Given the description of an element on the screen output the (x, y) to click on. 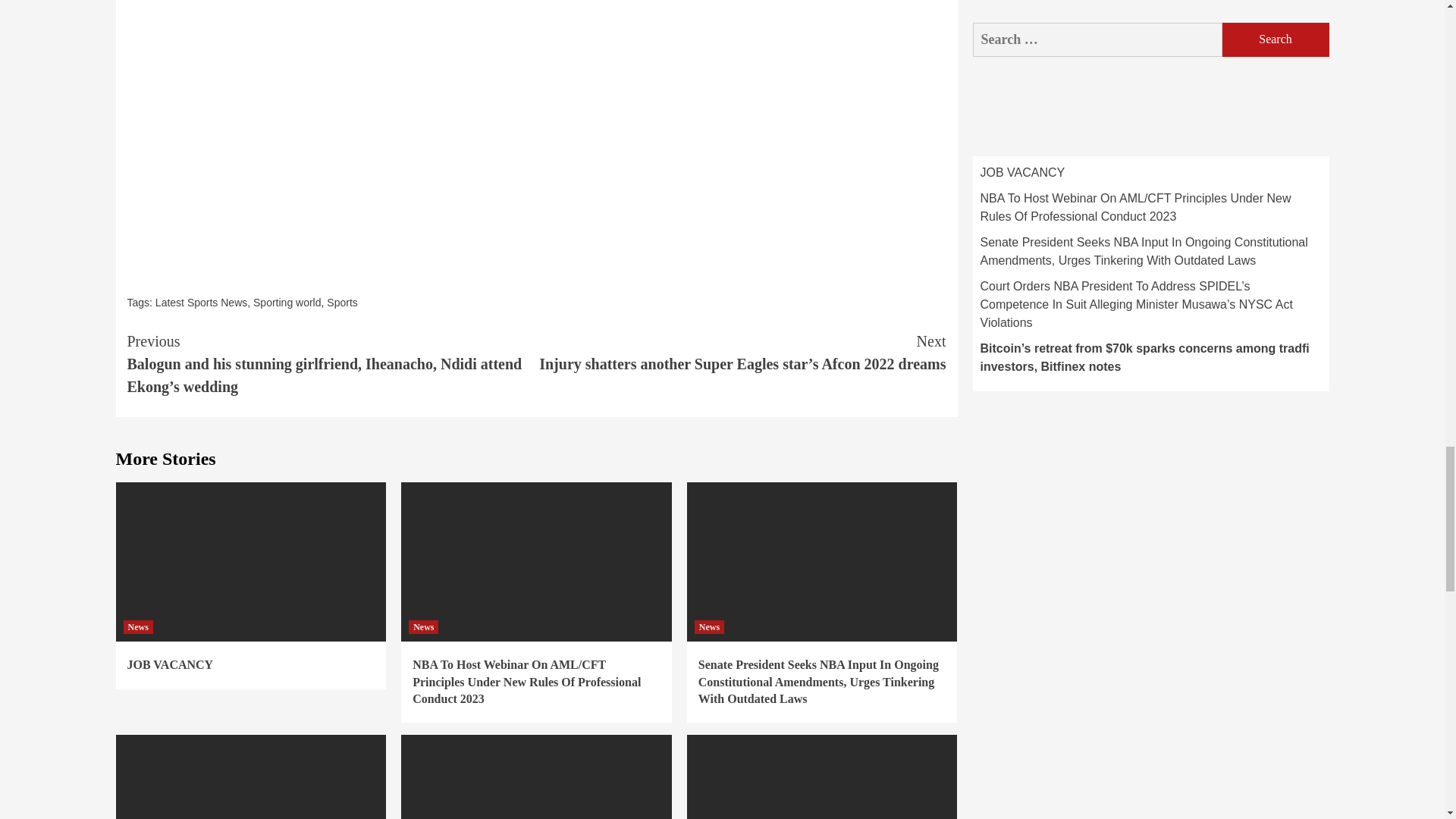
JOB VACANCY (171, 664)
News (423, 626)
News (137, 626)
Sports (341, 302)
Sporting world (287, 302)
Latest Sports News (201, 302)
